Given the description of an element on the screen output the (x, y) to click on. 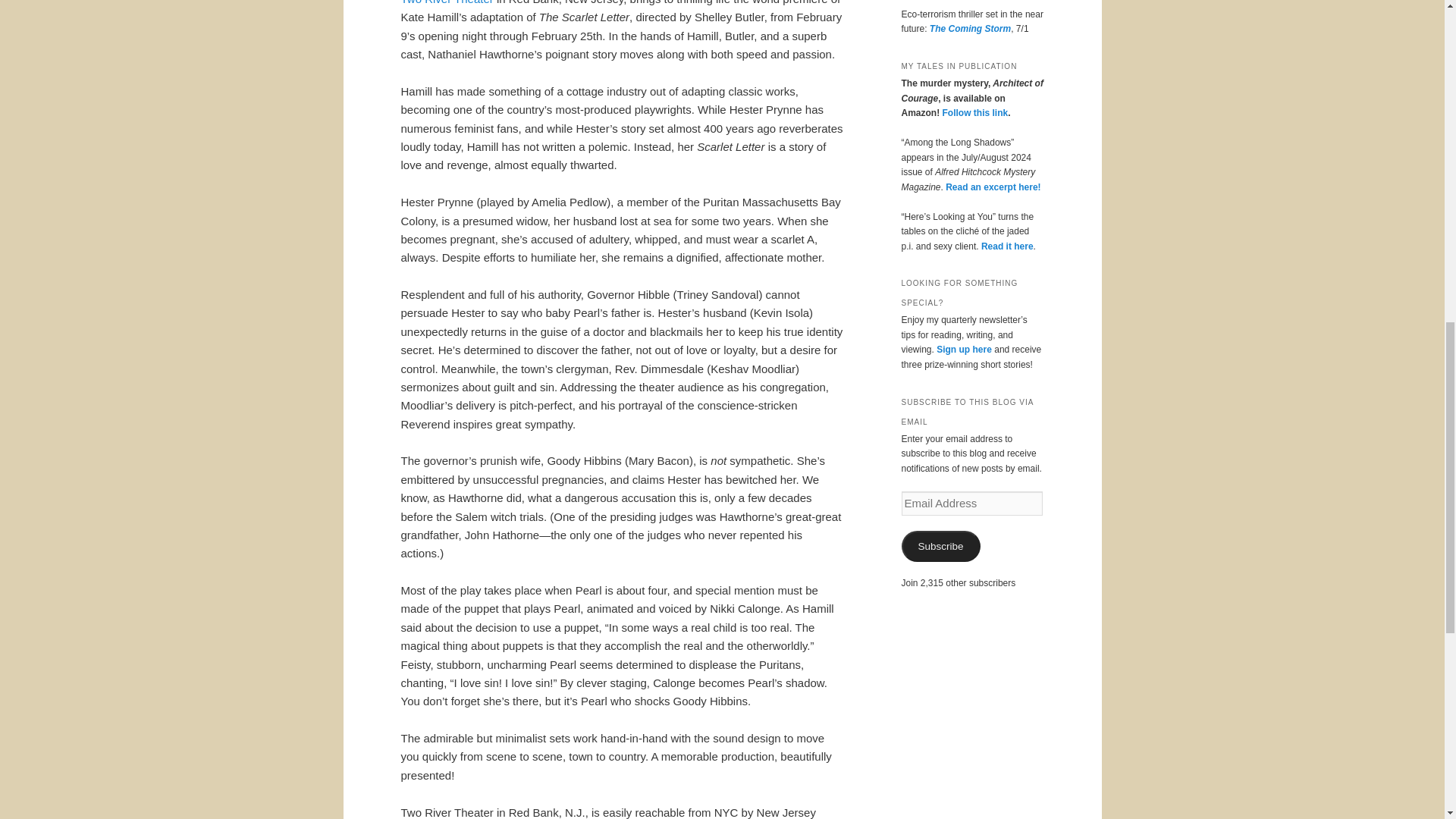
Two River Theater (446, 2)
Follow this link (974, 112)
The Coming Storm (970, 28)
